Given the description of an element on the screen output the (x, y) to click on. 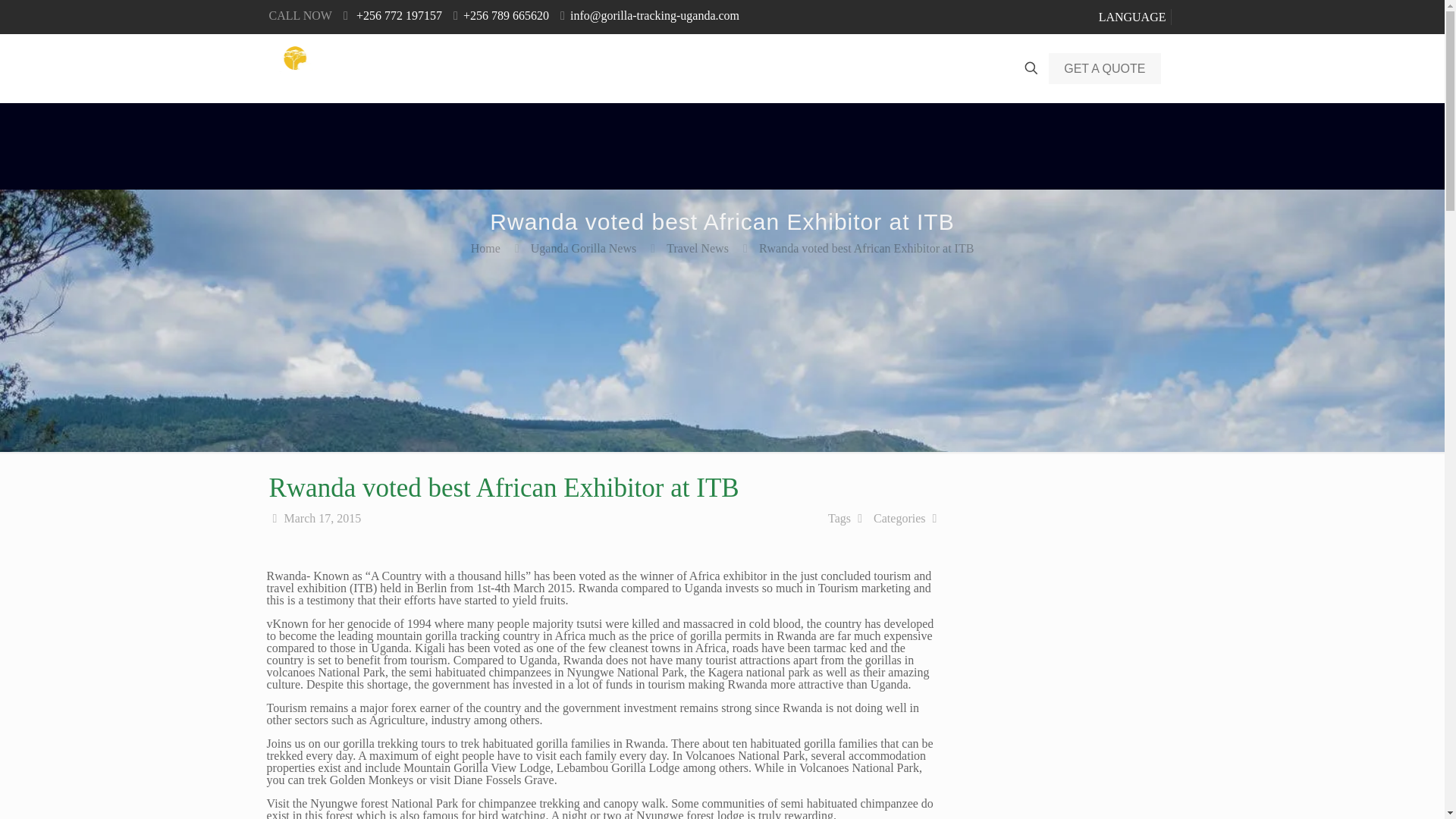
Home (500, 68)
LANGUAGE (1132, 16)
Gorilla Safaris (585, 68)
